Given the description of an element on the screen output the (x, y) to click on. 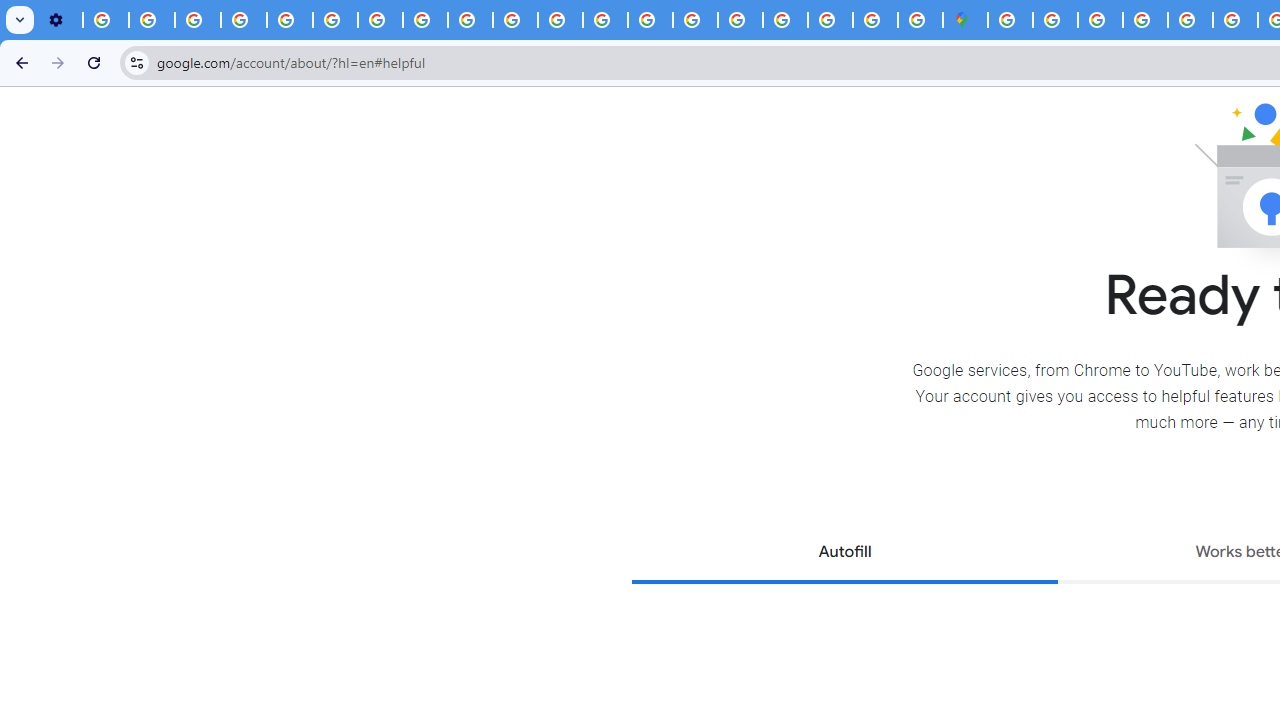
https://scholar.google.com/ (559, 20)
Google Account Help (244, 20)
Delete photos & videos - Computer - Google Photos Help (106, 20)
Sign in - Google Accounts (1055, 20)
Privacy Help Center - Policies Help (1235, 20)
Privacy Help Center - Policies Help (605, 20)
Sign in - Google Accounts (1010, 20)
Privacy Help Center - Policies Help (290, 20)
Privacy Checkup (470, 20)
